Given the description of an element on the screen output the (x, y) to click on. 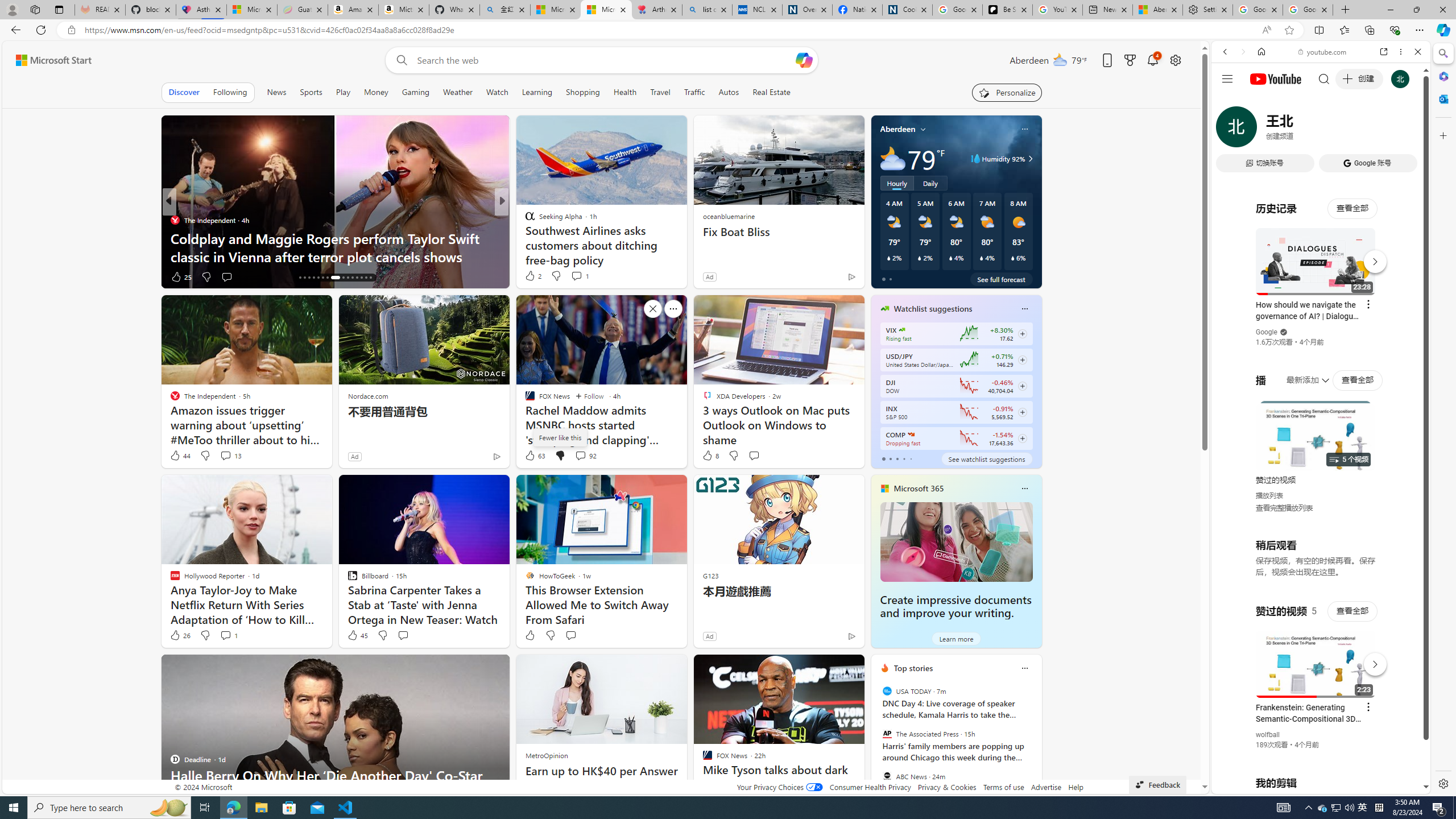
Watch (497, 92)
wolfball (1268, 734)
Money (375, 92)
Show More Music (1390, 310)
Autos (728, 92)
Daily (929, 183)
Money (376, 92)
Microsoft rewards (1129, 60)
